Given the description of an element on the screen output the (x, y) to click on. 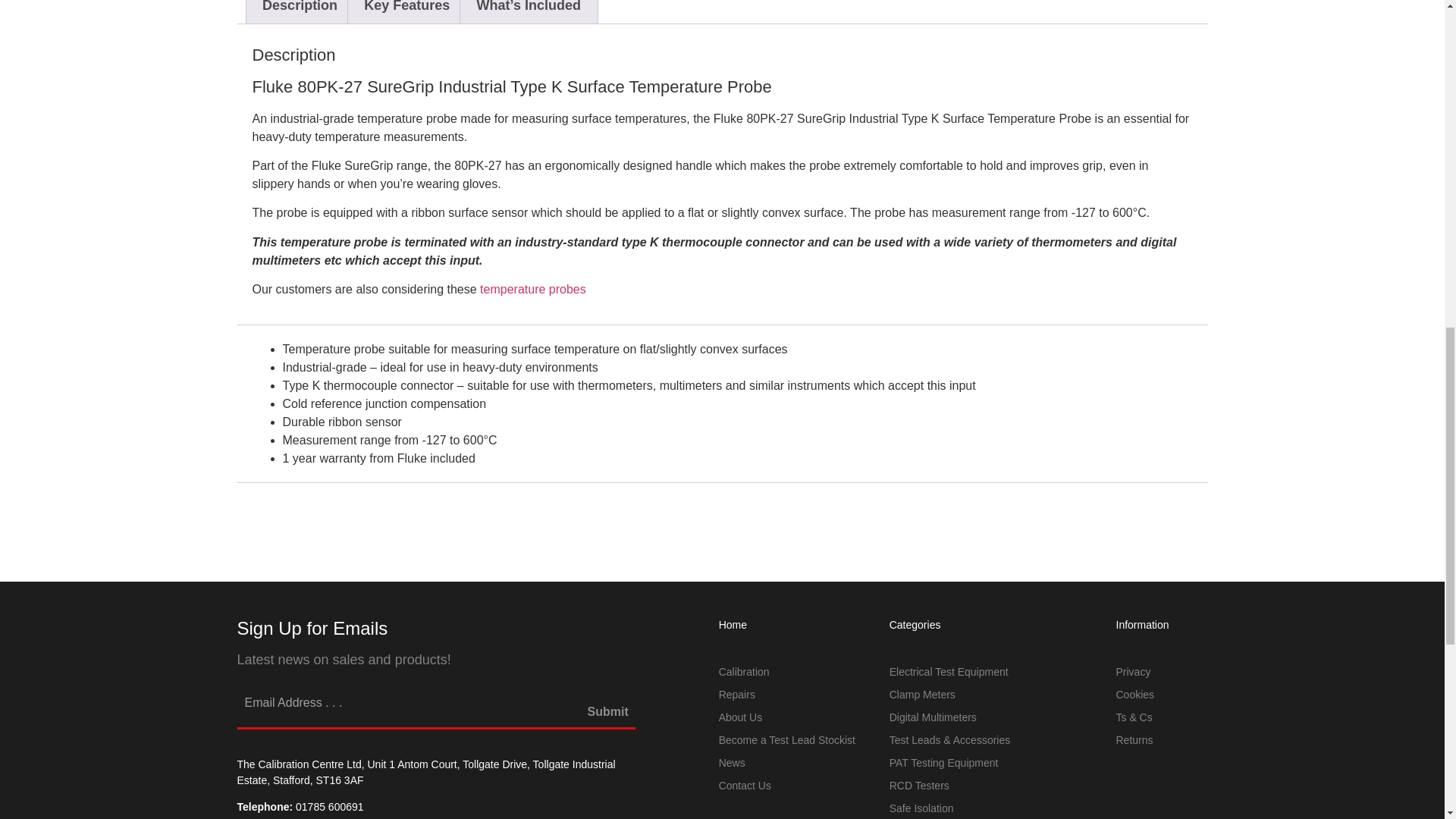
Submit (608, 719)
